Given the description of an element on the screen output the (x, y) to click on. 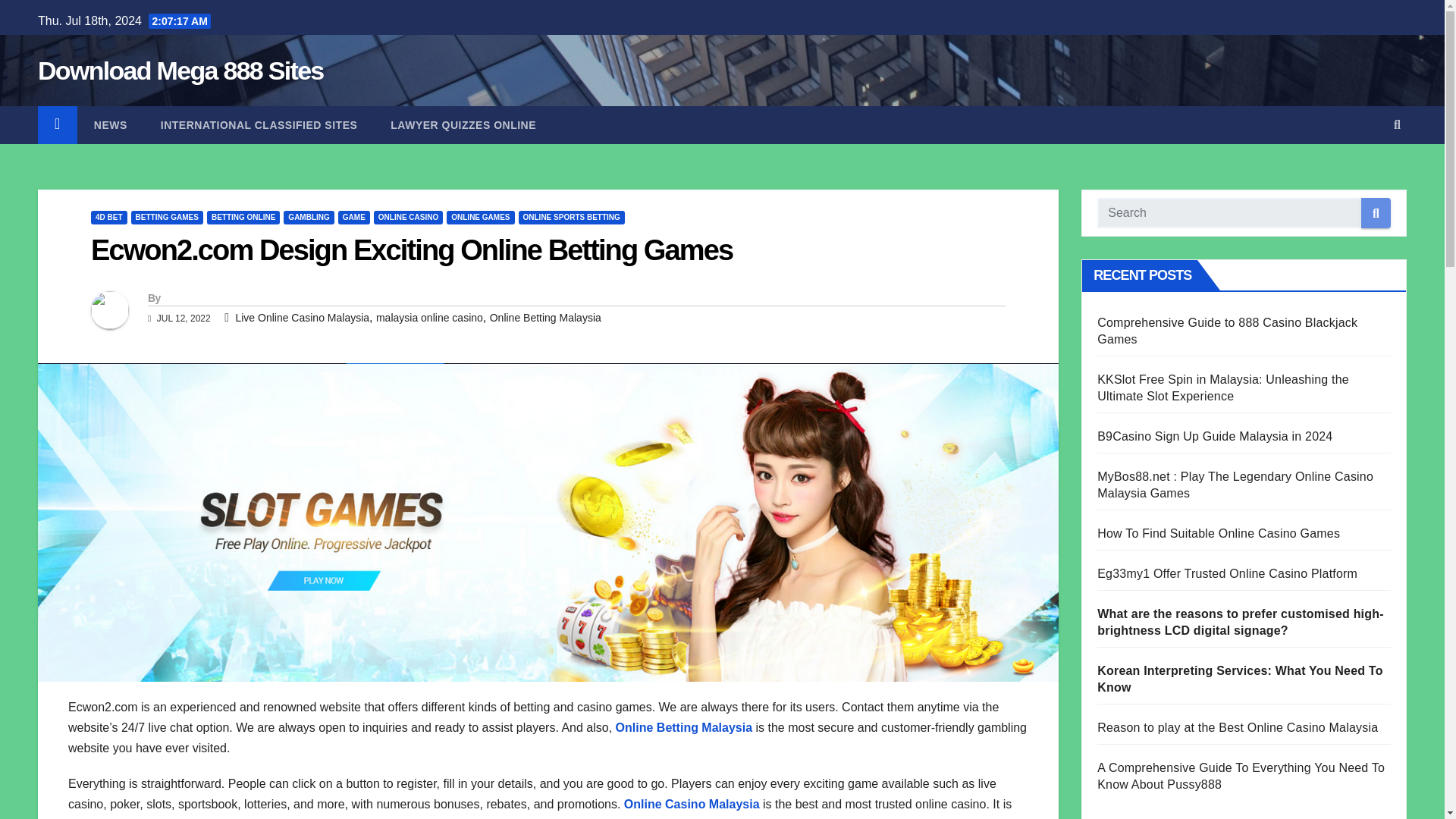
LAWYER QUIZZES ONLINE (463, 125)
GAMBLING (308, 217)
Download Mega 888 Sites (180, 70)
BETTING GAMES (167, 217)
ONLINE GAMES (479, 217)
BETTING ONLINE (242, 217)
ONLINE CASINO (408, 217)
Online Betting Malaysia (545, 317)
Ecwon2.com Design Exciting Online Betting Games (411, 250)
ONLINE SPORTS BETTING (571, 217)
News (110, 125)
INTERNATIONAL CLASSIFIED SITES (259, 125)
Lawyer Quizzes Online (463, 125)
Live Online Casino Malaysia (301, 317)
